Given the description of an element on the screen output the (x, y) to click on. 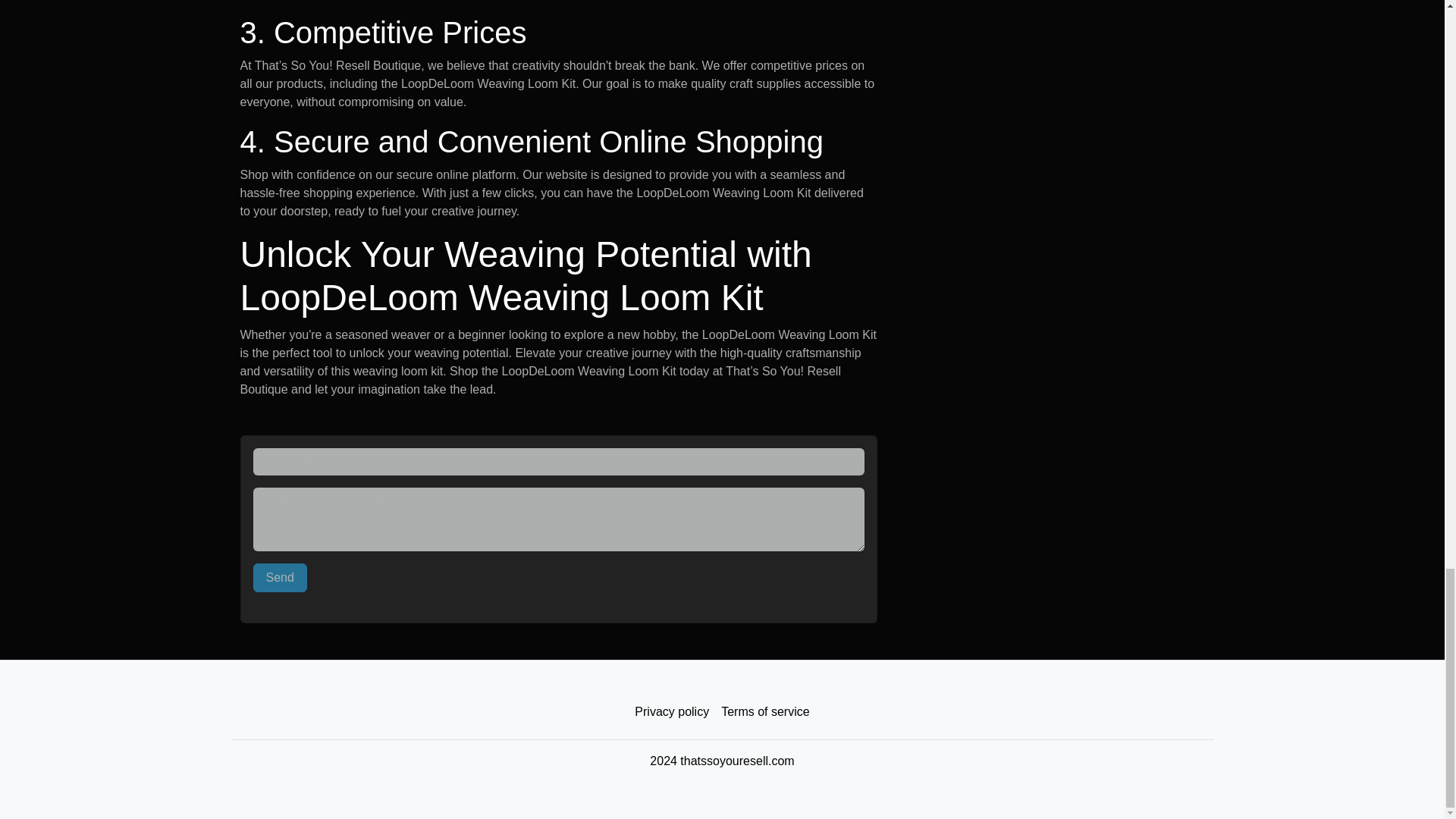
Send (280, 577)
Send (280, 577)
Terms of service (764, 711)
Privacy policy (671, 711)
